Given the description of an element on the screen output the (x, y) to click on. 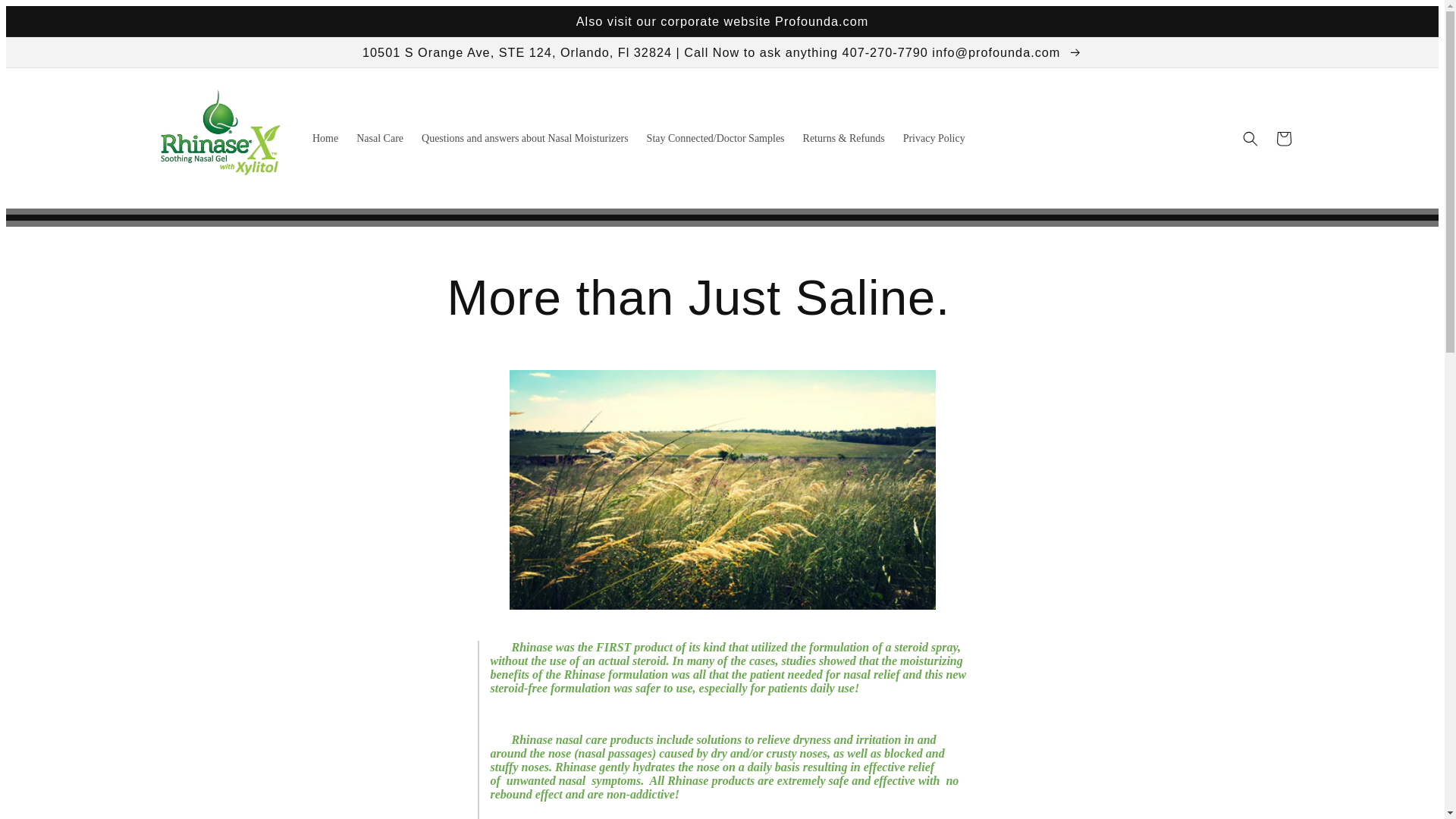
Questions and answers about Nasal Moisturizers (524, 138)
Cart (1283, 138)
Nasal Care (379, 138)
Skip to content (54, 26)
Privacy Policy (933, 138)
Home (324, 138)
